Given the description of an element on the screen output the (x, y) to click on. 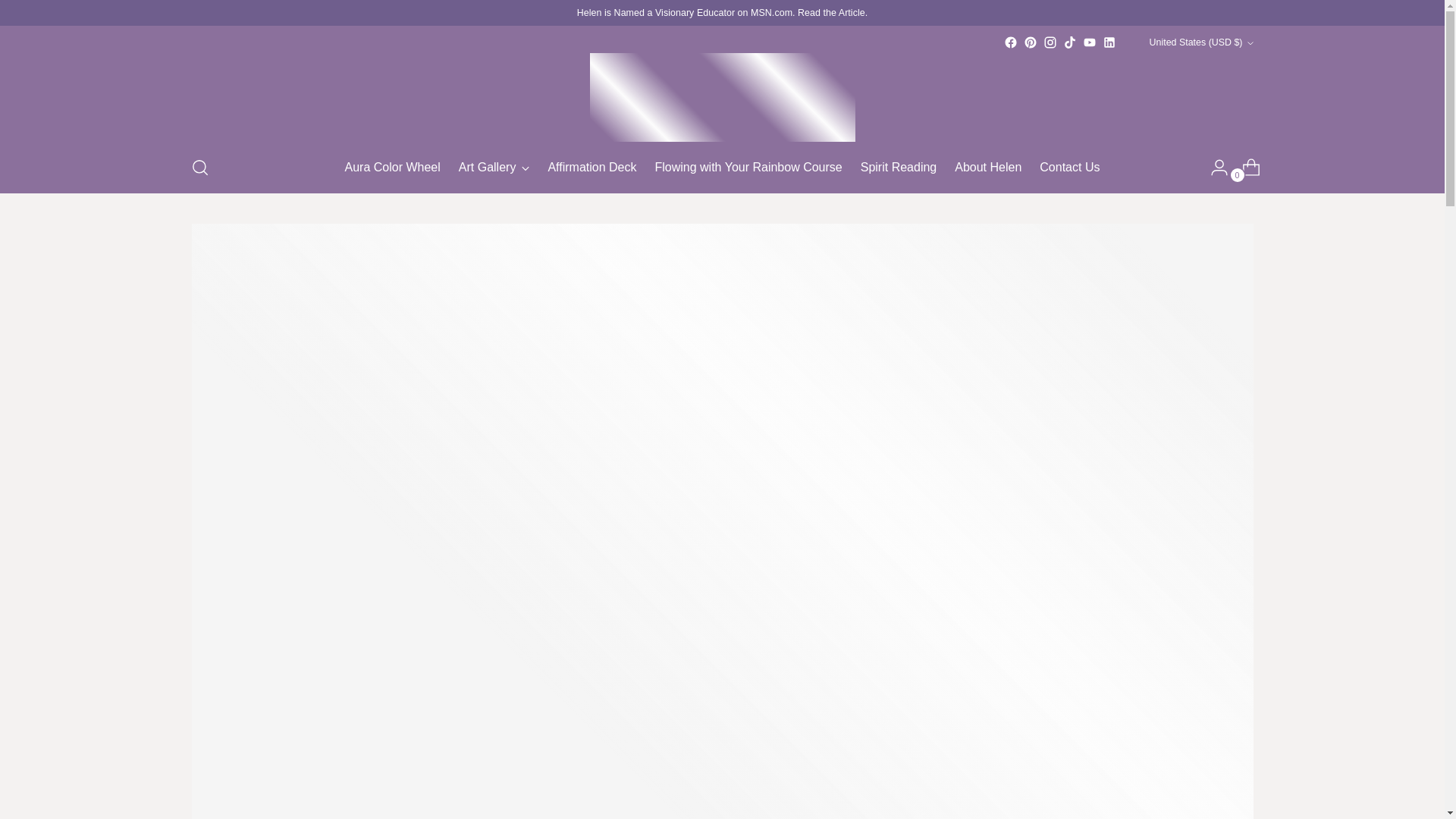
Helen Creates Beauty on YouTube (1089, 42)
Helen Creates Beauty on Instagram (1050, 42)
Helen Creates Beauty on Tiktok (1069, 42)
Helen Creates Beauty on Facebook (1010, 42)
Helen Creates Beauty on LinkedIn (1109, 42)
Helen Creates Beauty on Pinterest (1029, 42)
